Given the description of an element on the screen output the (x, y) to click on. 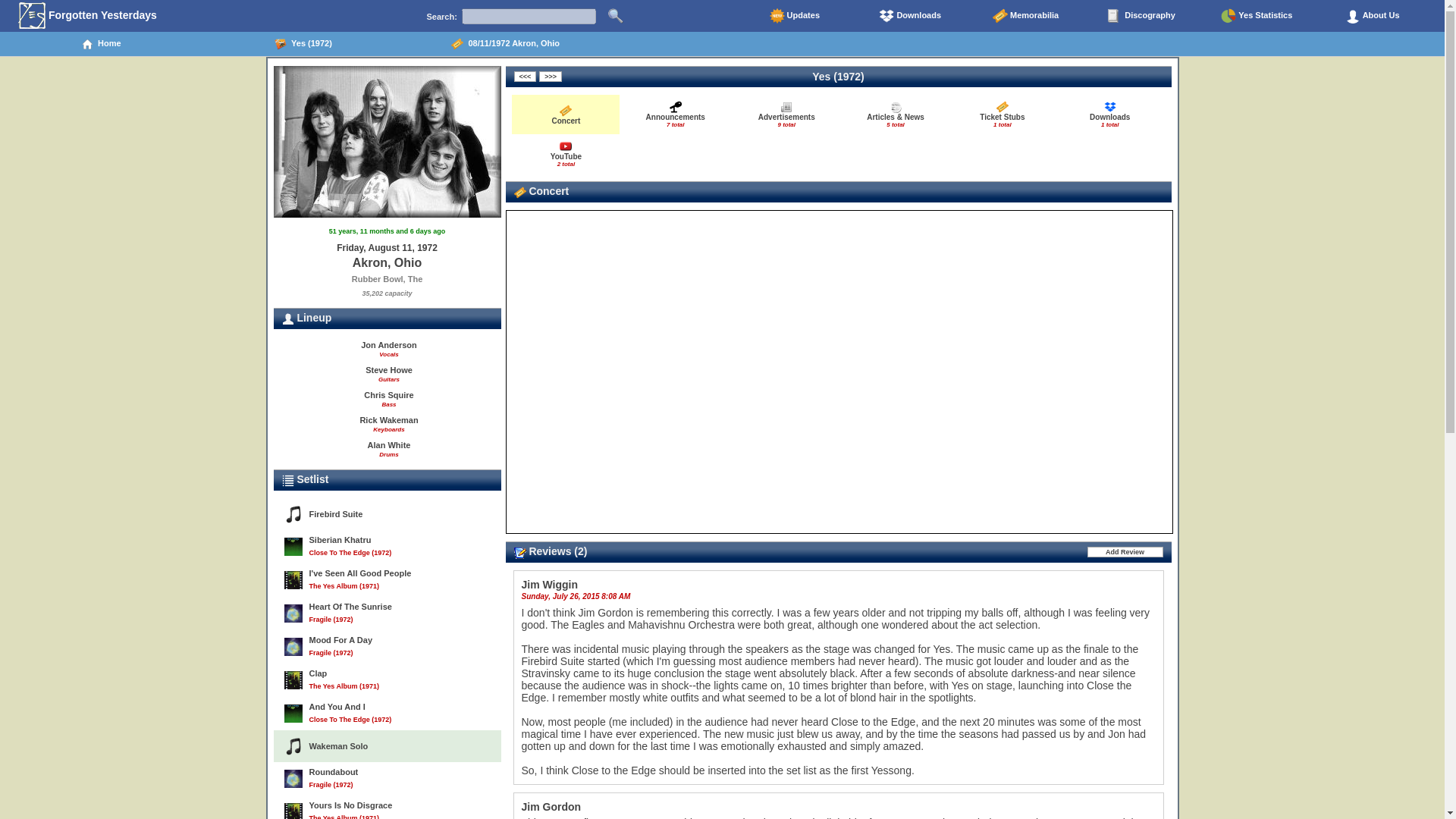
lineup (288, 318)
 Yes Statistics (1256, 15)
 Memorabilia (1025, 15)
 About Us (1371, 15)
setlist (288, 480)
 Updates (793, 15)
 Discography (675, 114)
Quick Search (1140, 15)
Concert (615, 15)
  Home (565, 113)
Forgotten Yesterdays (101, 44)
Firebird Suite (786, 114)
